Given the description of an element on the screen output the (x, y) to click on. 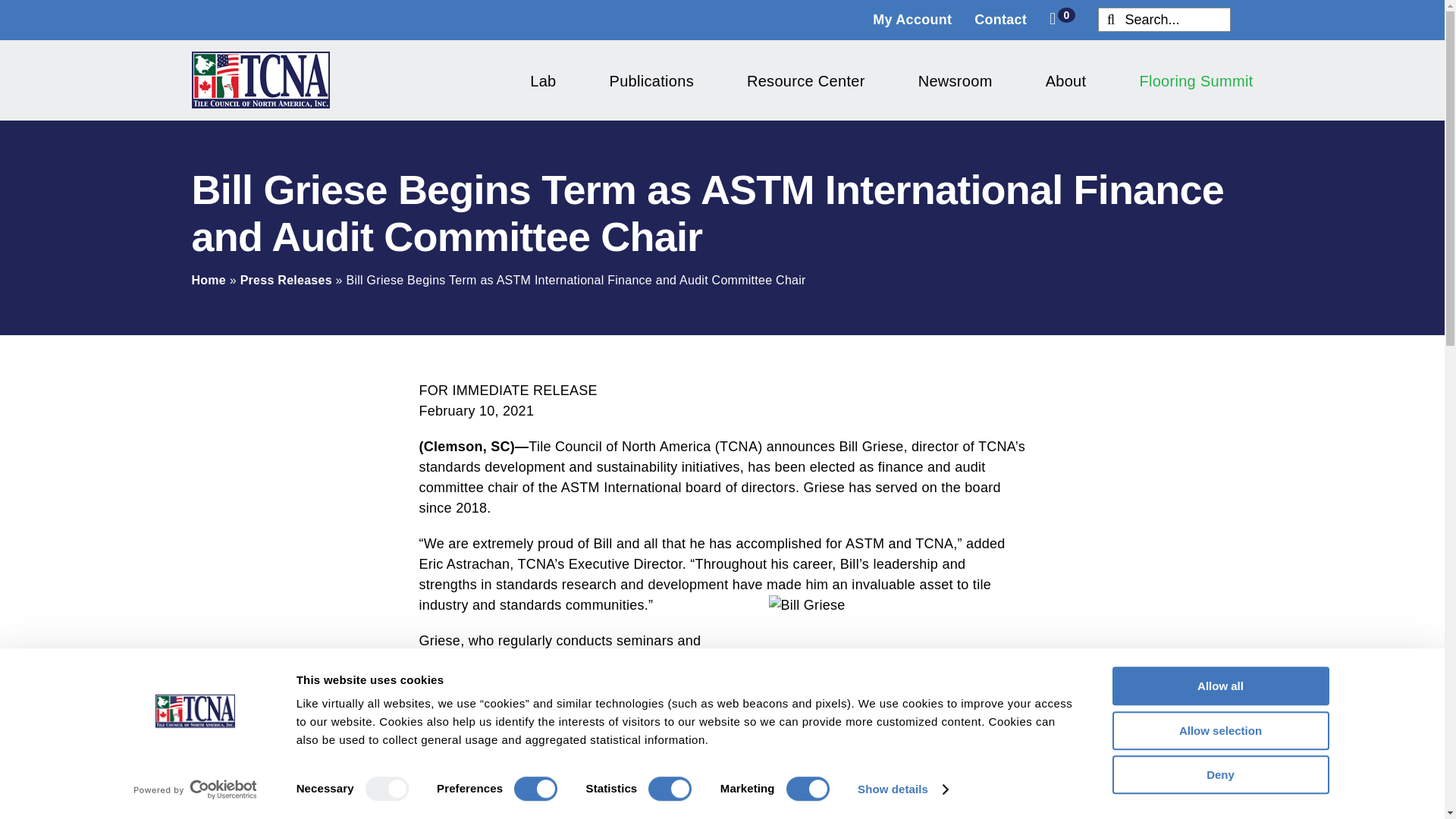
0 (1061, 18)
Show details (902, 789)
Contact (1011, 19)
My Account (923, 19)
Allow all (1219, 685)
Deny (1219, 774)
Allow selection (1219, 730)
